Given the description of an element on the screen output the (x, y) to click on. 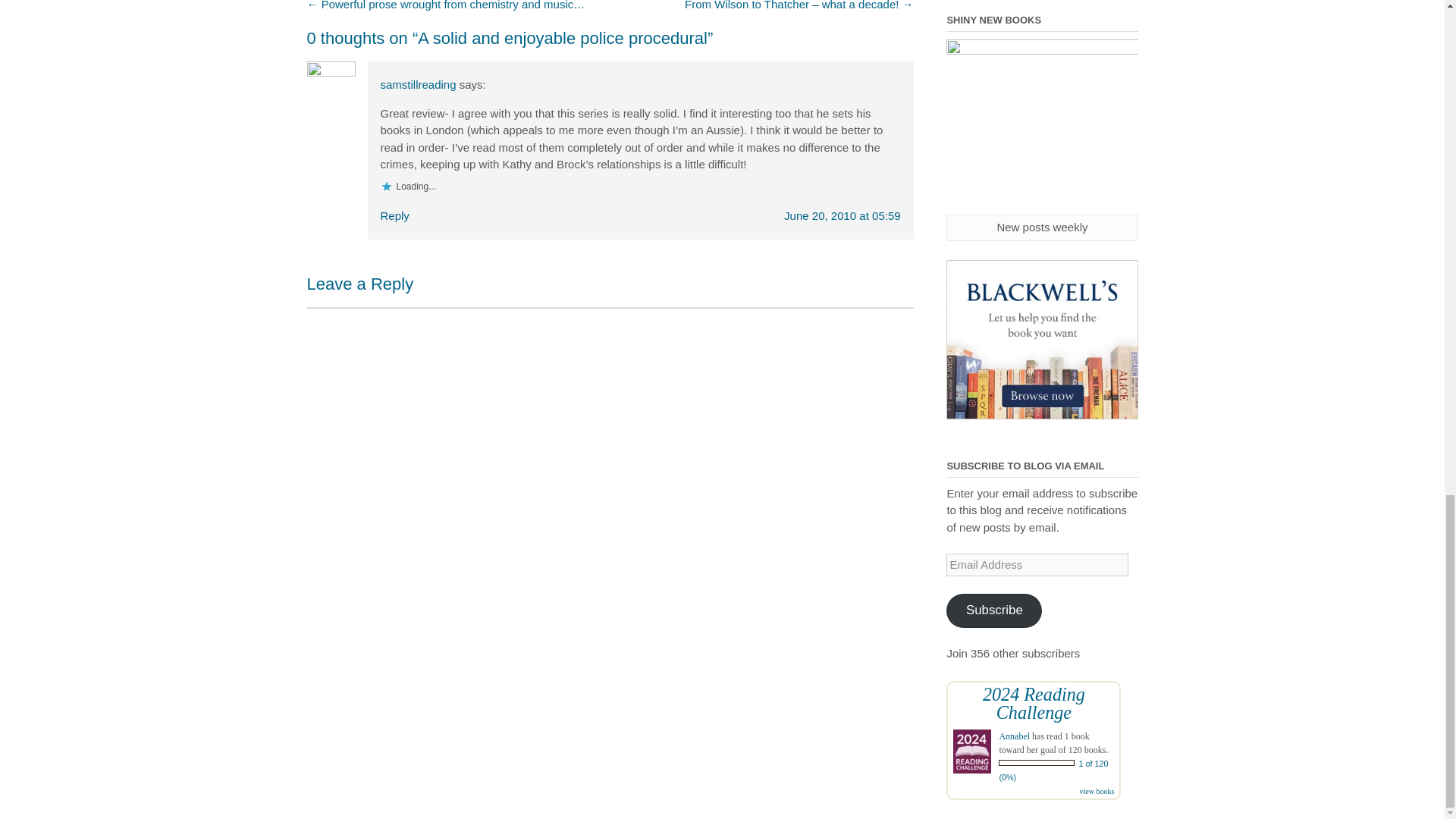
www.blackwells.co.uk (1041, 339)
Reply (394, 215)
samstillreading (418, 83)
SHINY NEW BOOKS (1041, 126)
